Given the description of an element on the screen output the (x, y) to click on. 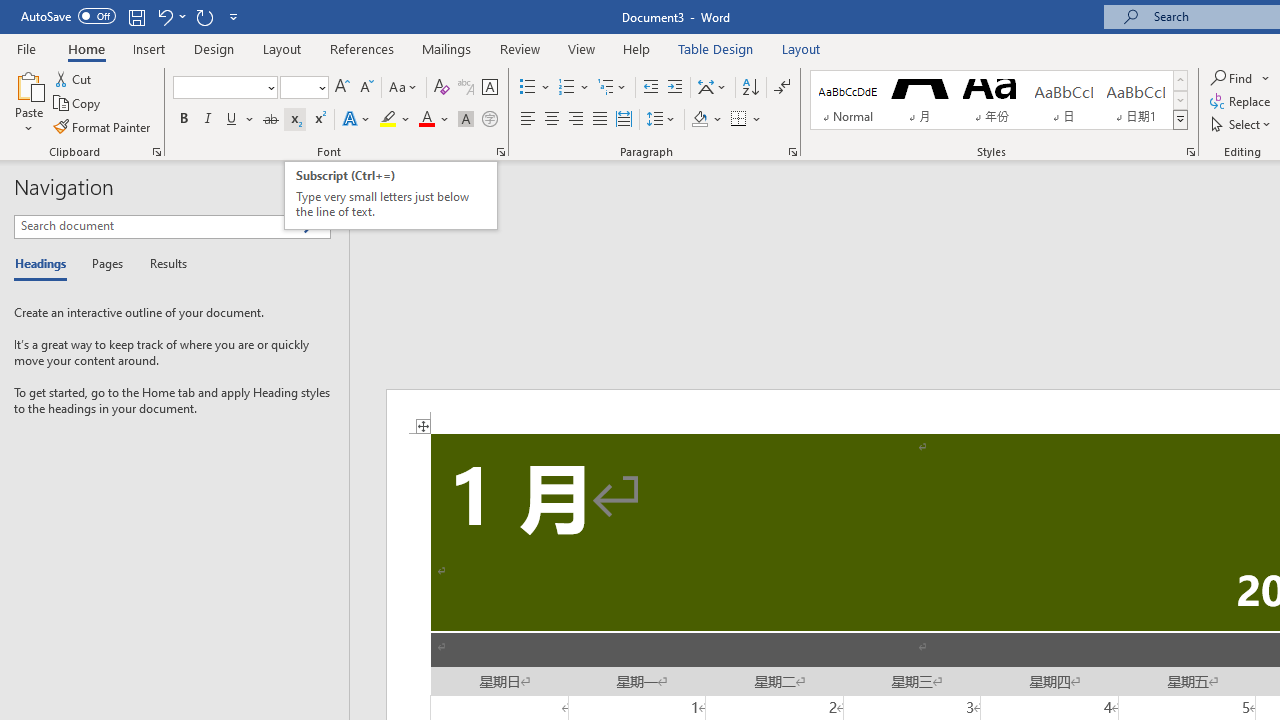
Cut (73, 78)
Format Painter (103, 126)
Line and Paragraph Spacing (661, 119)
Office Clipboard... (156, 151)
Text Highlight Color Yellow (388, 119)
Enclose Characters... (489, 119)
Increase Indent (675, 87)
